Given the description of an element on the screen output the (x, y) to click on. 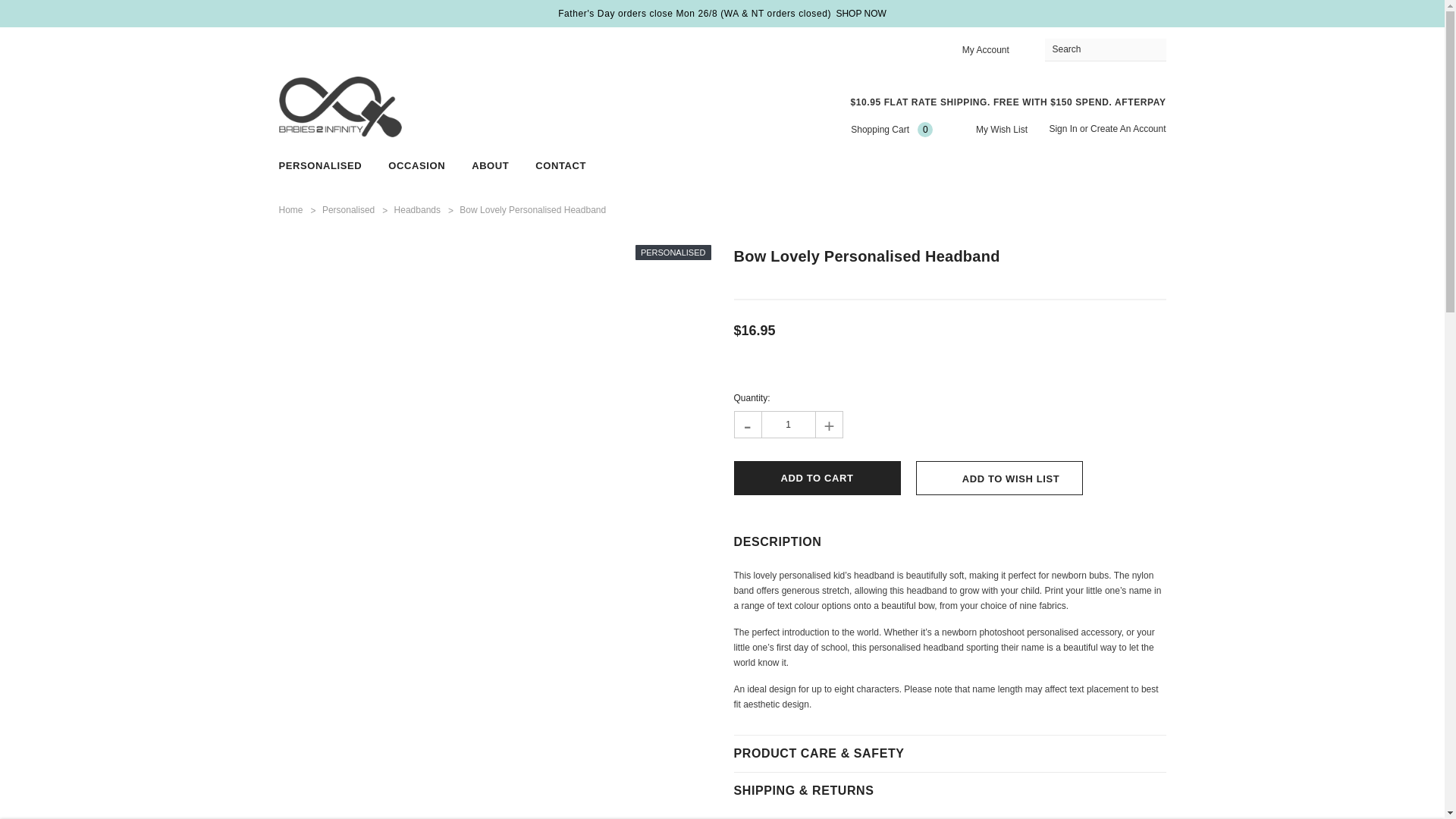
PERSONALISED (320, 165)
Babies 2 Infinity (340, 106)
SHOP NOW (860, 13)
Sign In (1062, 128)
My Wish List (991, 129)
Create An Account (1128, 128)
Add to Cart (817, 478)
My Account (985, 49)
1 (787, 424)
Shopping Cart 0 (880, 129)
